Given the description of an element on the screen output the (x, y) to click on. 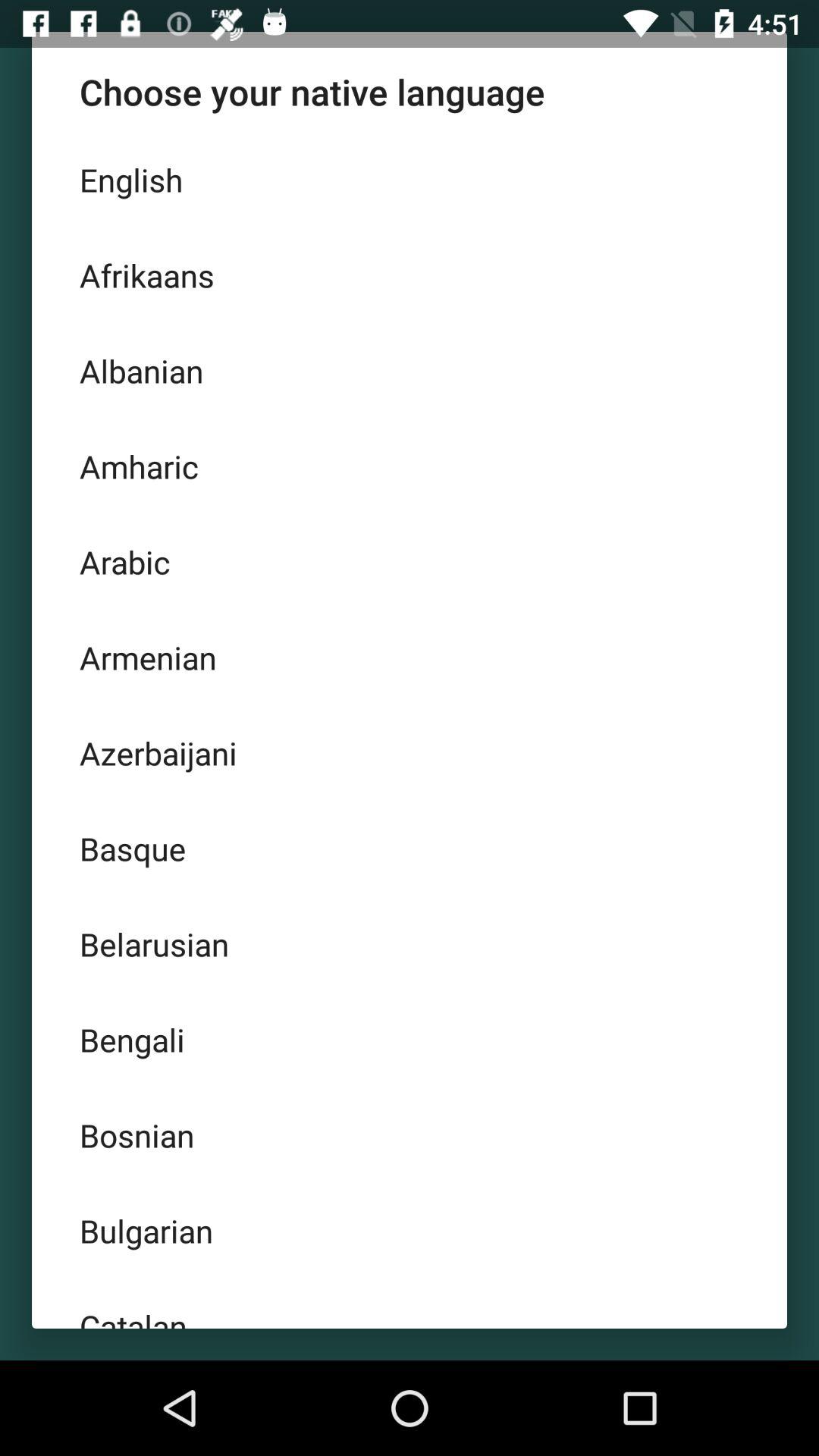
click the icon above the azerbaijani item (409, 657)
